Given the description of an element on the screen output the (x, y) to click on. 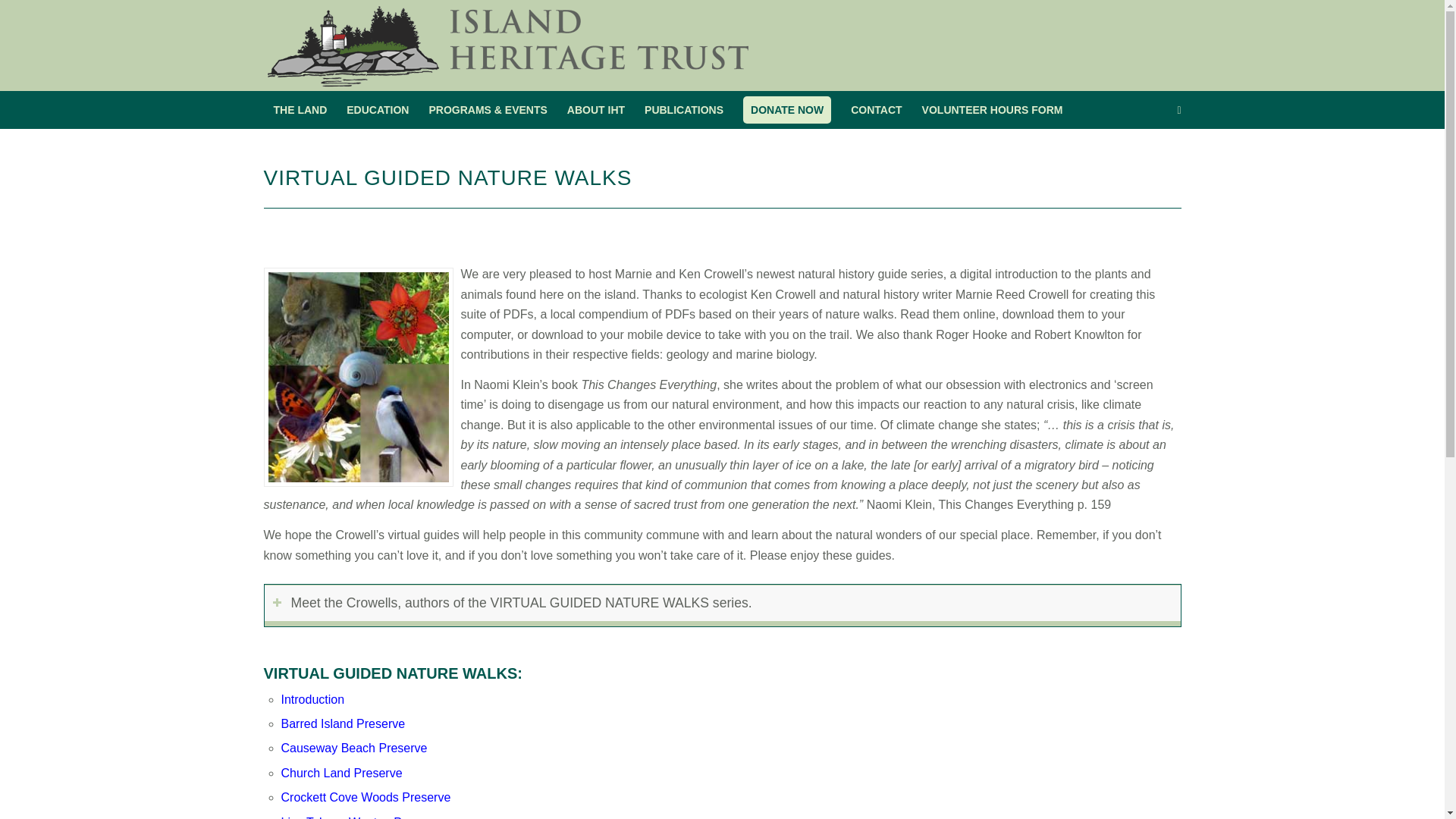
DONATE NOW (787, 109)
EDUCATION (377, 109)
ABOUT IHT (595, 109)
CONTACT (876, 109)
Introduction (312, 698)
THE LAND (300, 109)
PUBLICATIONS (683, 109)
VOLUNTEER HOURS FORM (992, 109)
